Given the description of an element on the screen output the (x, y) to click on. 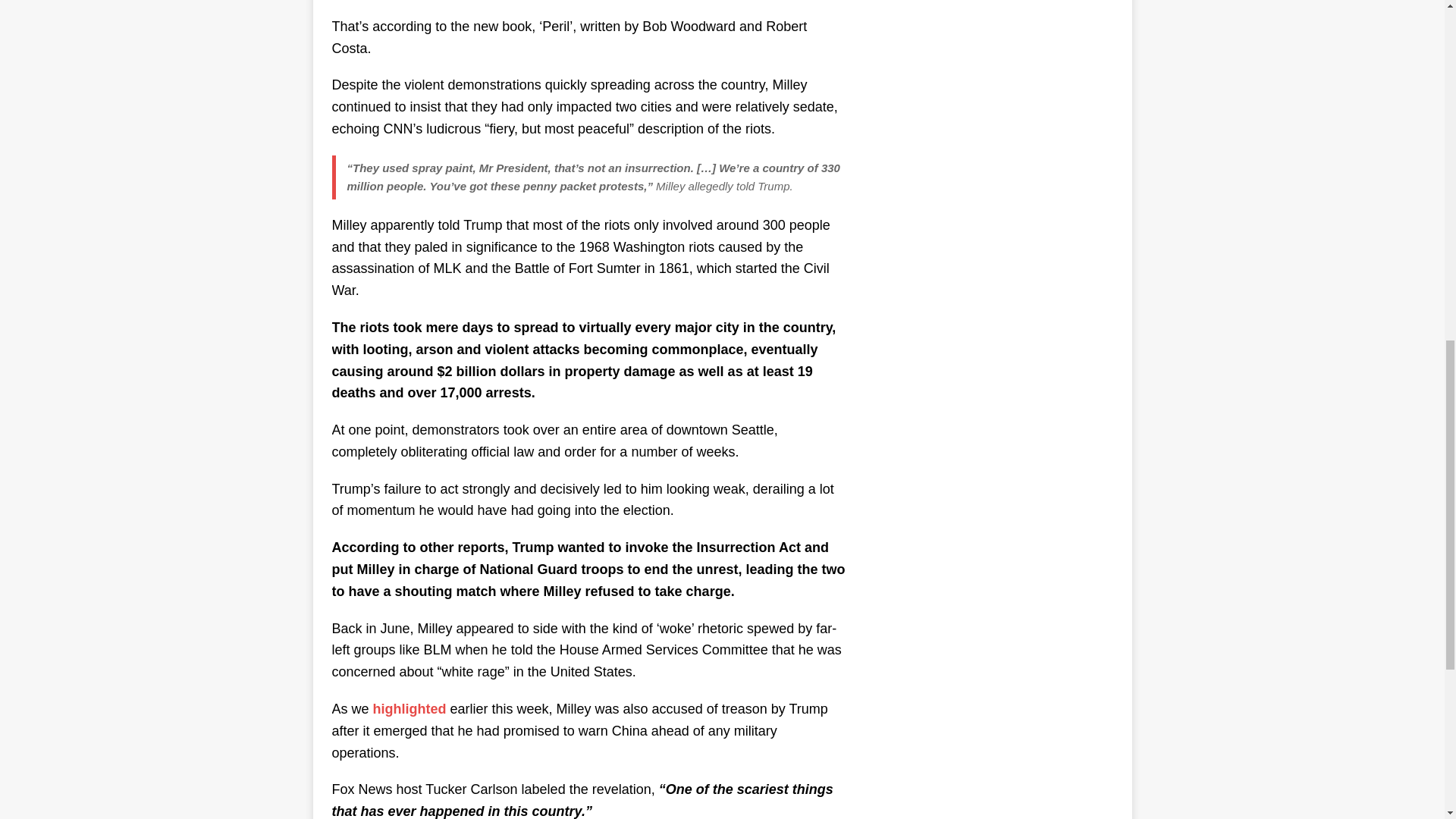
highlighted (409, 708)
